Given the description of an element on the screen output the (x, y) to click on. 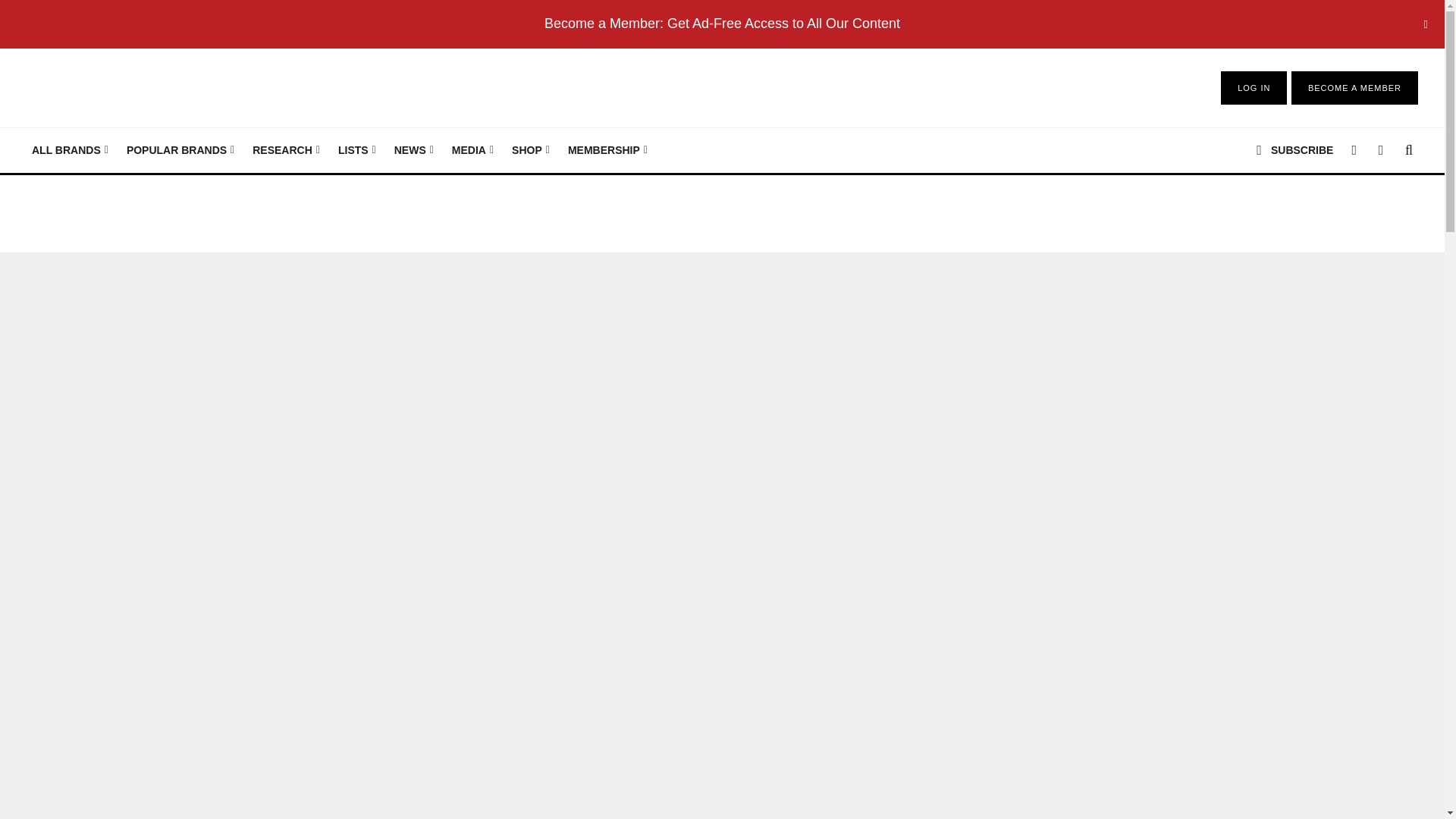
ALL BRANDS (70, 149)
Become a Member: Get Ad-Free Access to All Our Content (721, 23)
BECOME A MEMBER (1353, 87)
LOG IN (1253, 87)
Become a Member: Get Ad-Free Access to All Our Content (721, 23)
